Given the description of an element on the screen output the (x, y) to click on. 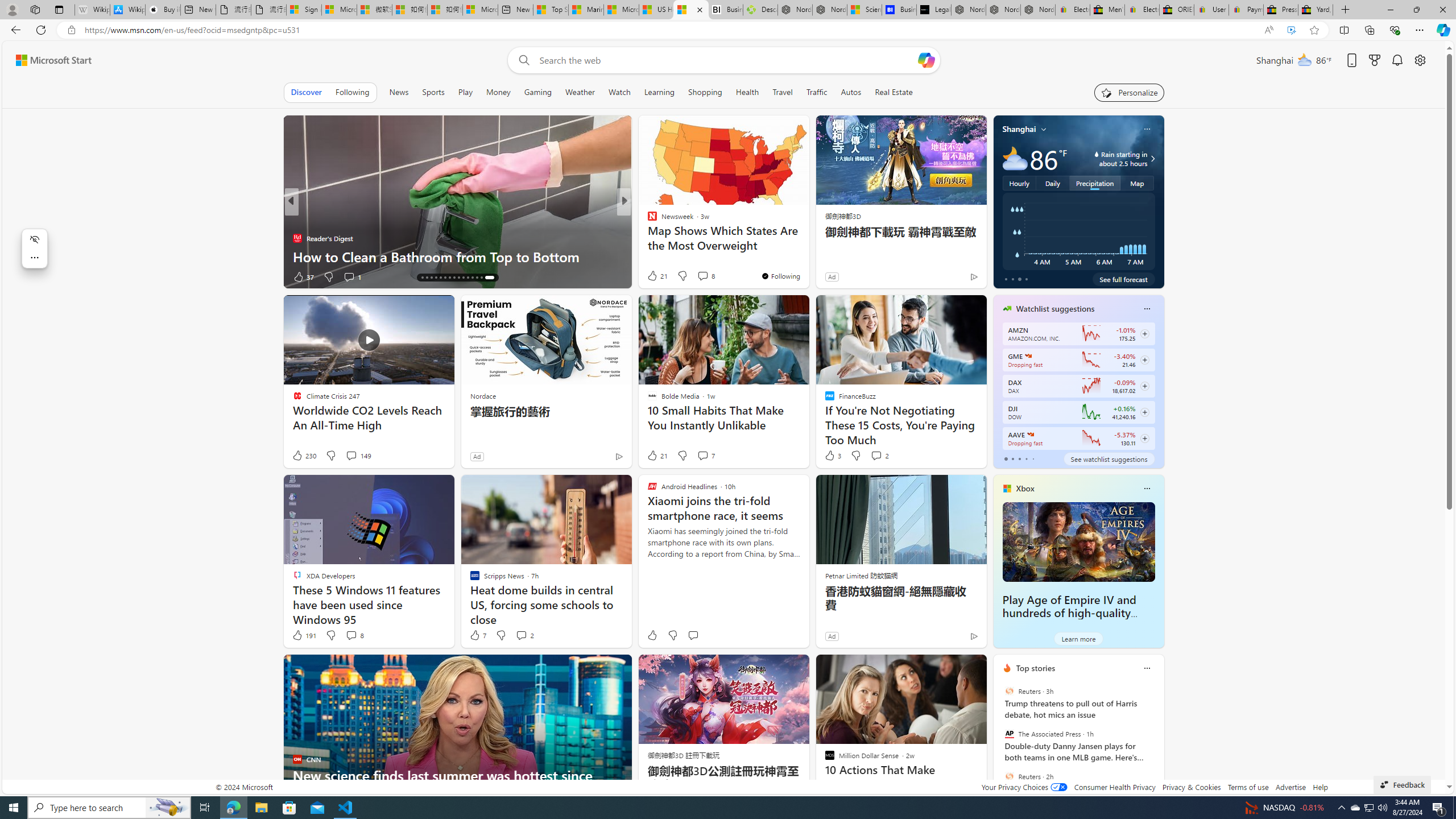
Learning (659, 92)
How to Clean a Bathroom from Top to Bottom (807, 256)
AutomationID: tab-16 (424, 277)
AutomationID: tab-28 (483, 277)
View comments 31 Comment (698, 276)
US Heat Deaths Soared To Record High Last Year (656, 9)
When did humans start wearing clothes? (807, 256)
previous (998, 741)
AutomationID: tab-22 (456, 277)
